Given the description of an element on the screen output the (x, y) to click on. 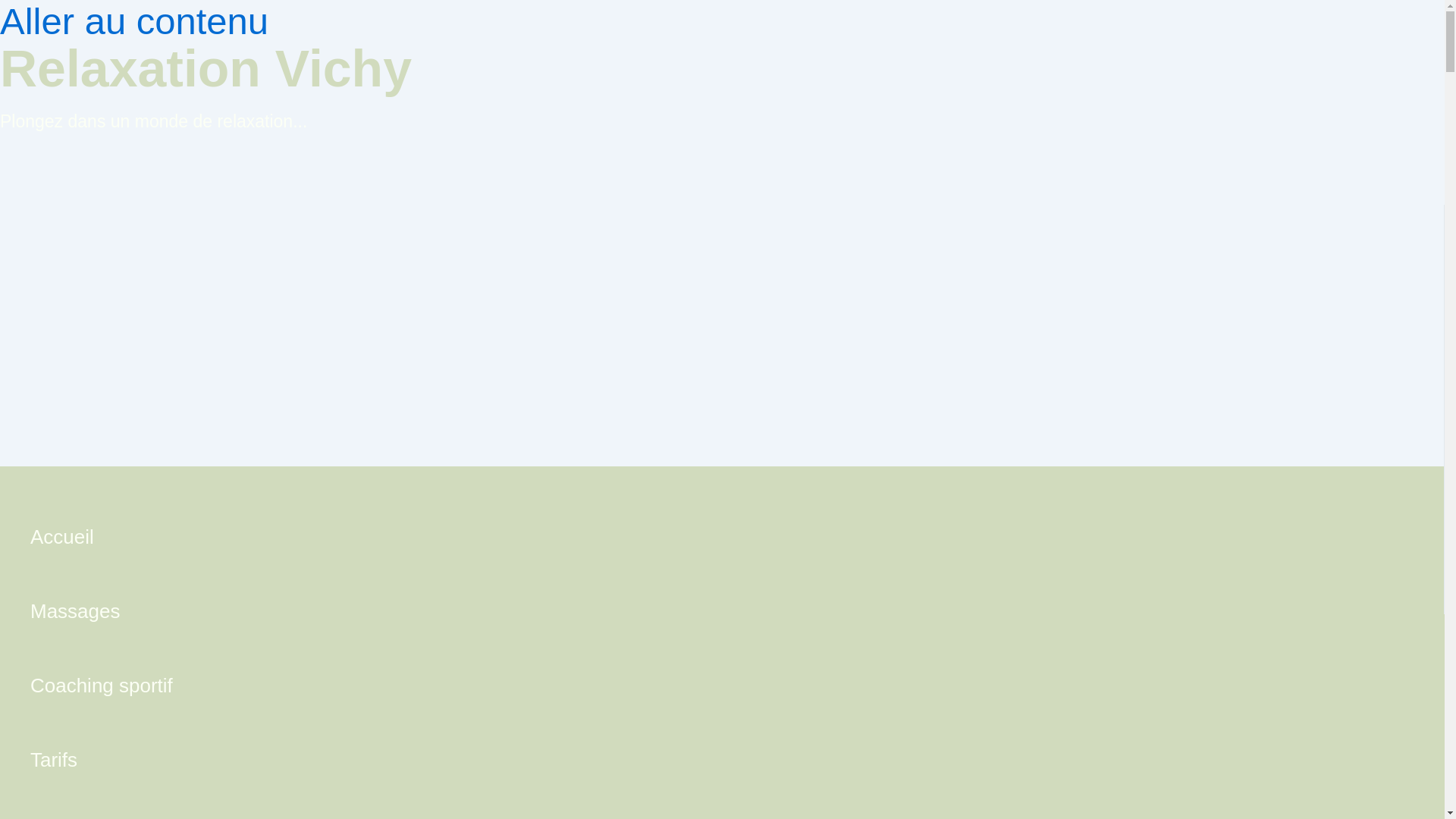
Aller au contenu (133, 20)
Tarifs (101, 763)
Aller au contenu (133, 20)
Relaxation Vichy (206, 68)
Accueil (101, 540)
Massages (101, 614)
Contact (101, 809)
Coaching sportif (101, 688)
 Soin dos aux pierres chaudes (101, 614)
